Given the description of an element on the screen output the (x, y) to click on. 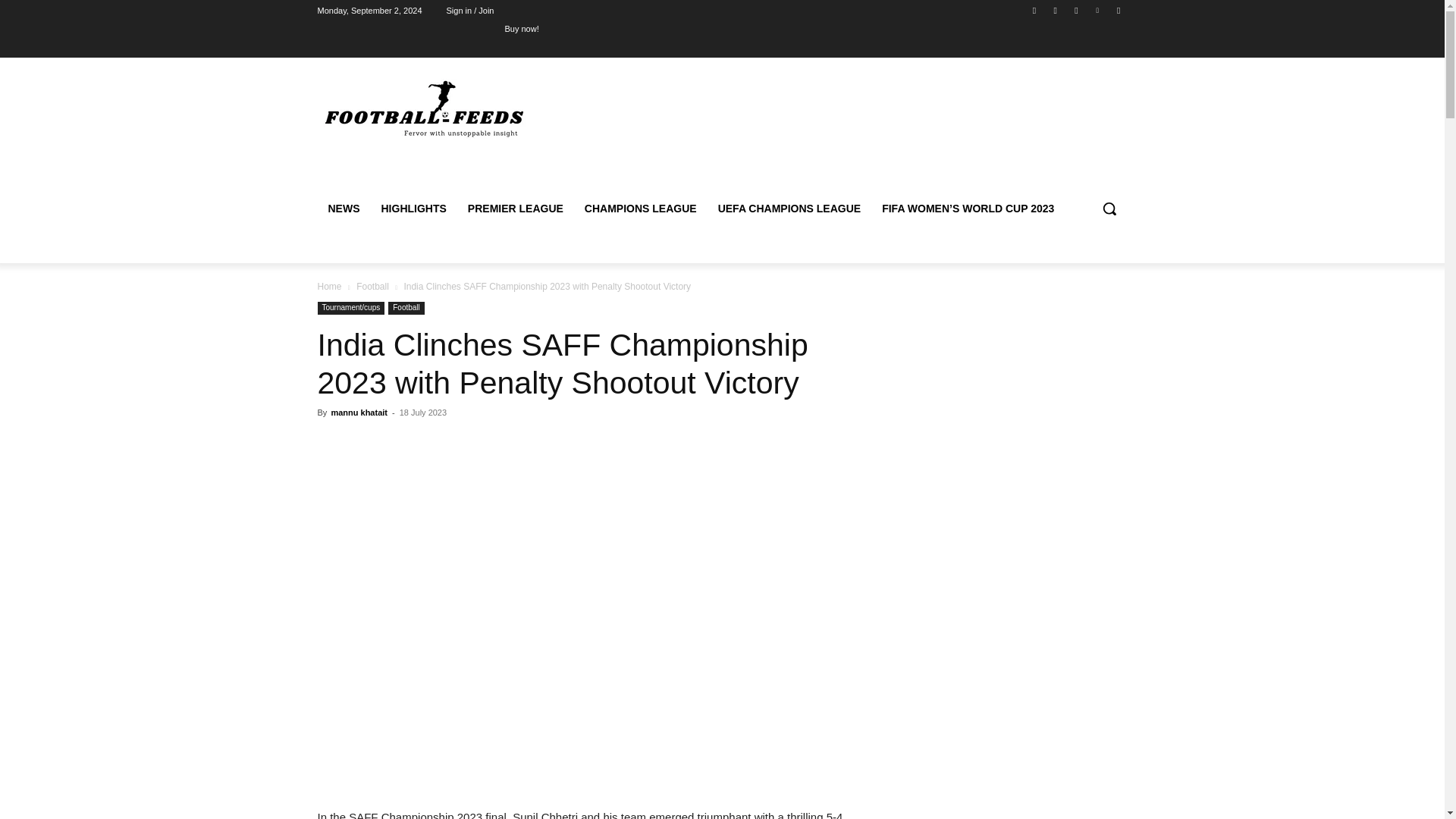
NEWS (343, 208)
Youtube (1117, 9)
UEFA CHAMPIONS LEAGUE (789, 208)
Football (406, 308)
Facebook (1034, 9)
PREMIER LEAGUE (515, 208)
CHAMPIONS LEAGUE (640, 208)
Buy now! (520, 28)
HIGHLIGHTS (413, 208)
Telegram (1075, 9)
